Given the description of an element on the screen output the (x, y) to click on. 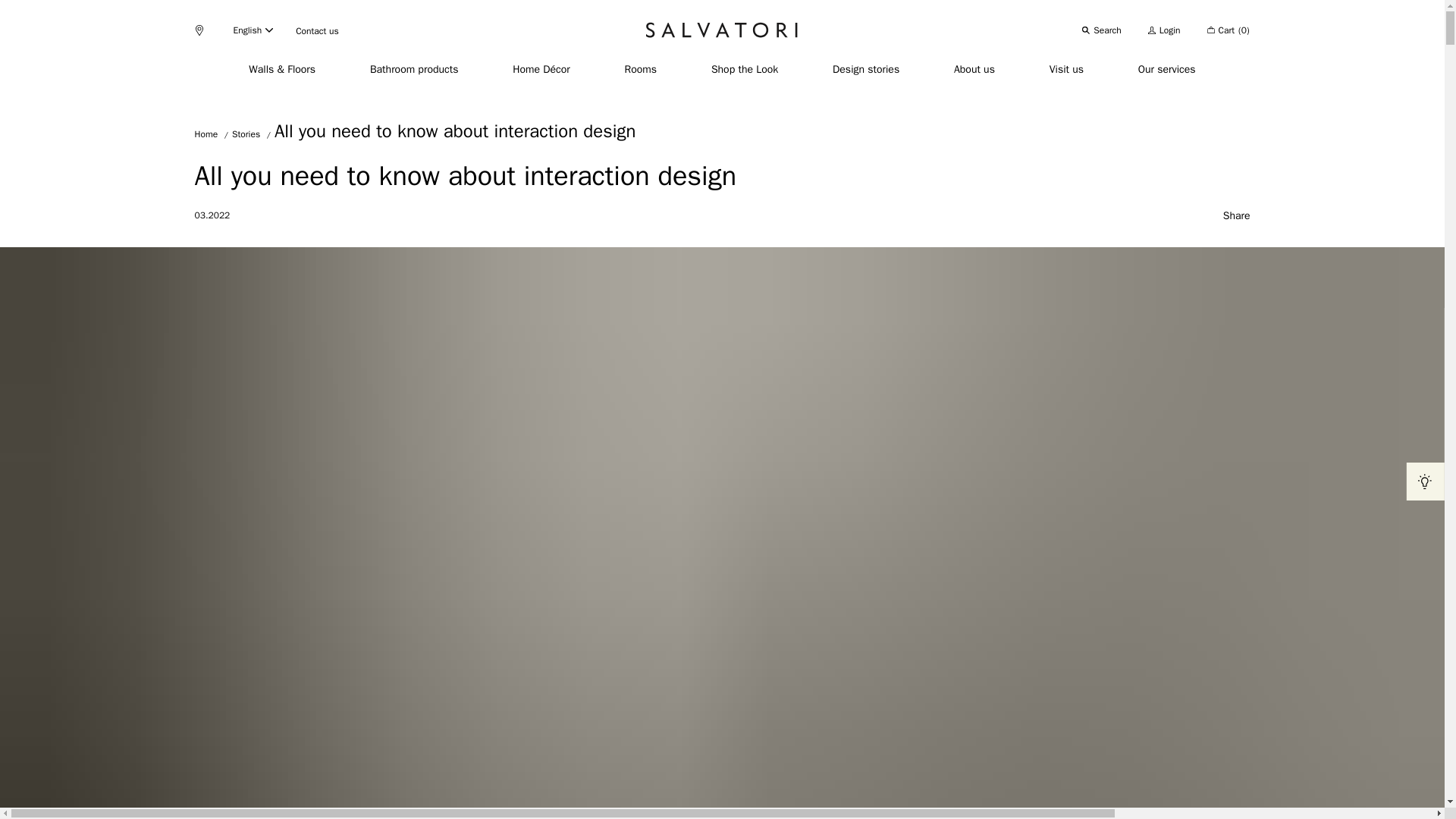
Our services (1166, 69)
English (252, 29)
Shop the Look (744, 69)
Rooms (641, 69)
Search (1101, 29)
Visit us (1066, 69)
Bathroom products (413, 69)
Login (1164, 29)
About us (973, 69)
Design stories (865, 69)
